Given the description of an element on the screen output the (x, y) to click on. 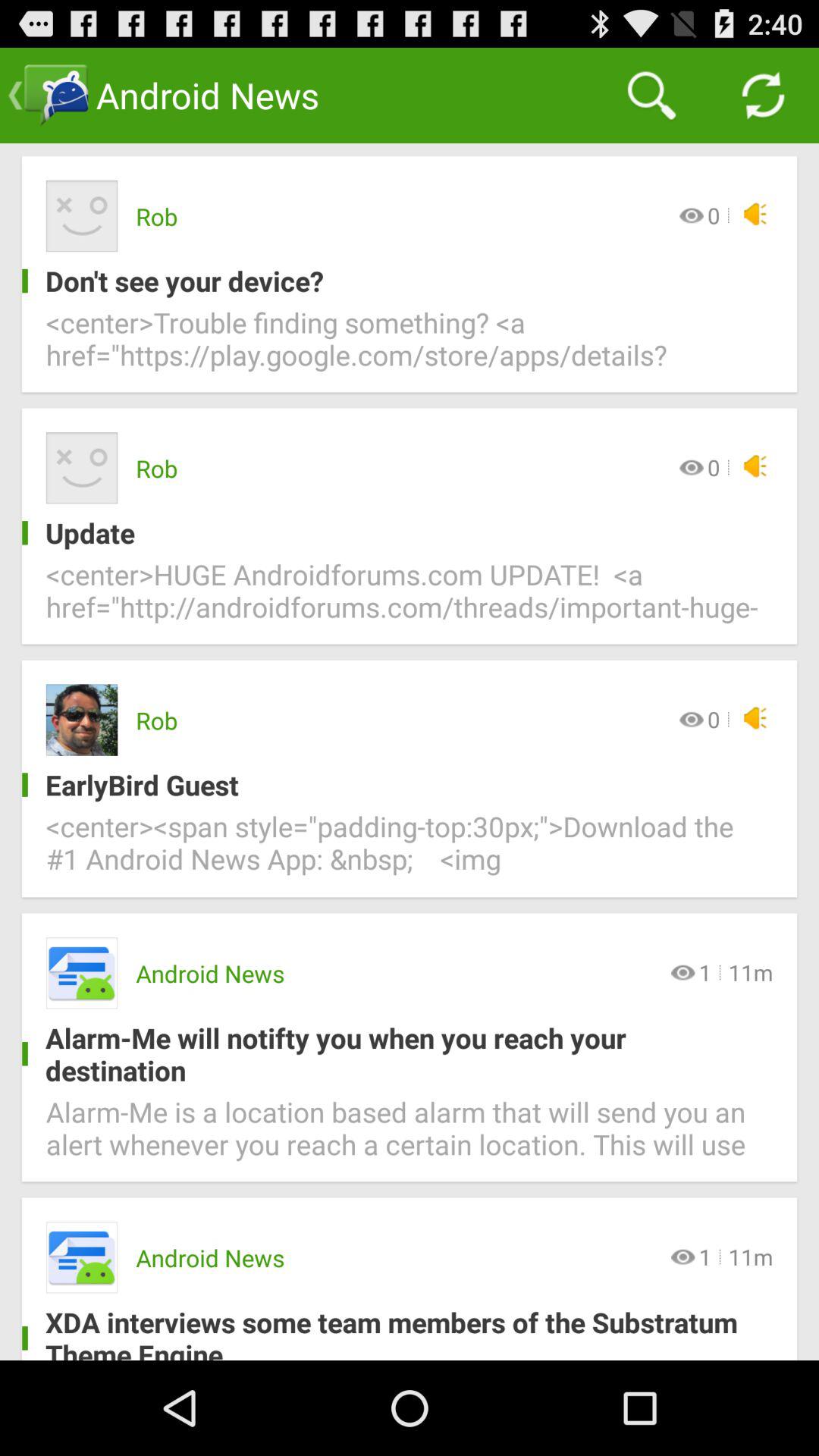
turn on the icon to the right of android news (651, 95)
